Given the description of an element on the screen output the (x, y) to click on. 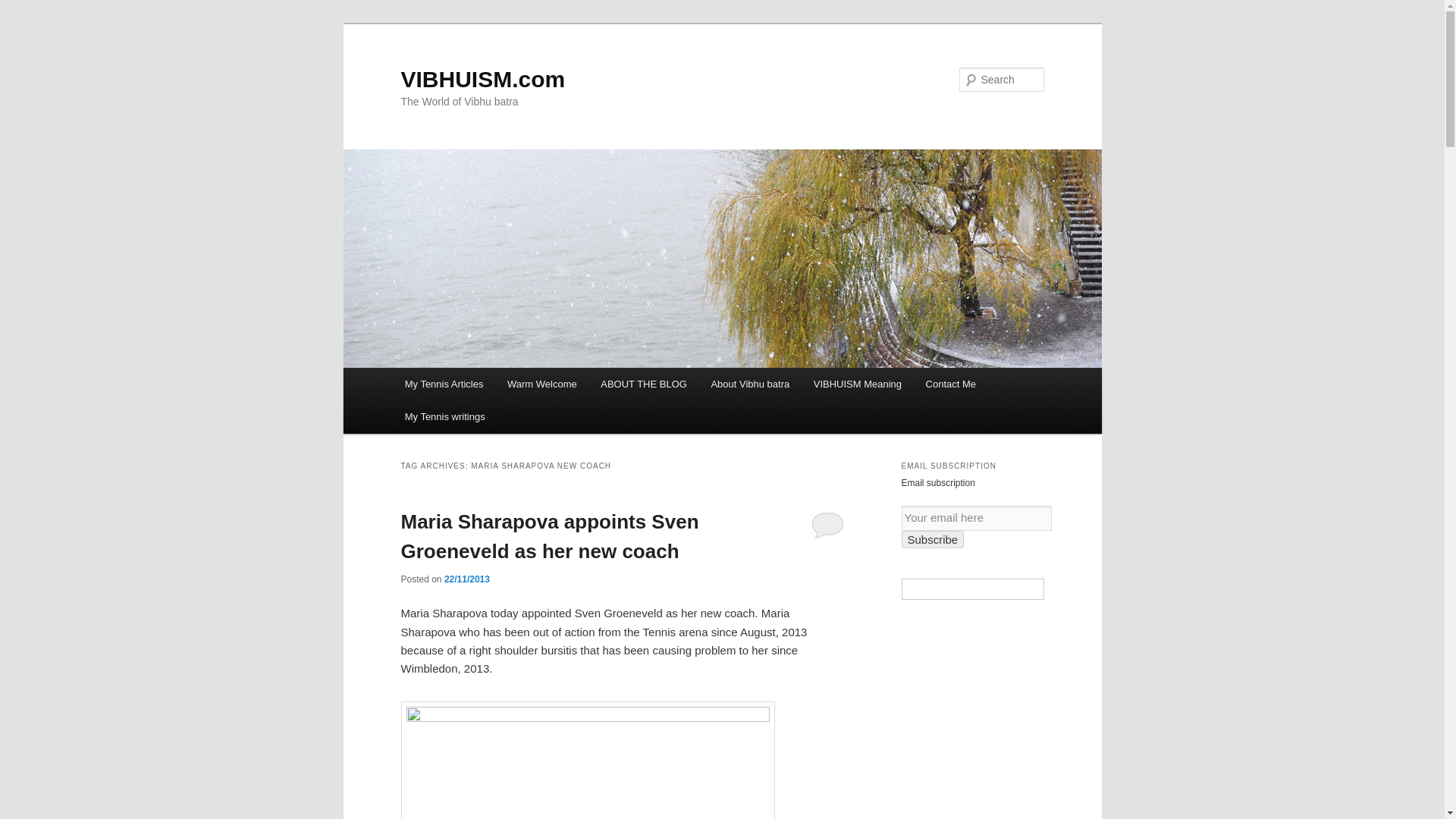
Skip to primary content (472, 386)
Subscribe (932, 538)
VIBHUISM.com (482, 78)
VIBHUISM Meaning (858, 383)
Search (24, 8)
My Tennis writings (444, 416)
Skip to secondary content (479, 386)
ABOUT THE BLOG (643, 383)
Warm Welcome (541, 383)
00:28 (466, 579)
Skip to secondary content (479, 386)
VIBHUISM.com (482, 78)
My Tennis Articles (444, 383)
Contact Me (951, 383)
Masha at the premier of the new Porsche Macan (587, 760)
